Given the description of an element on the screen output the (x, y) to click on. 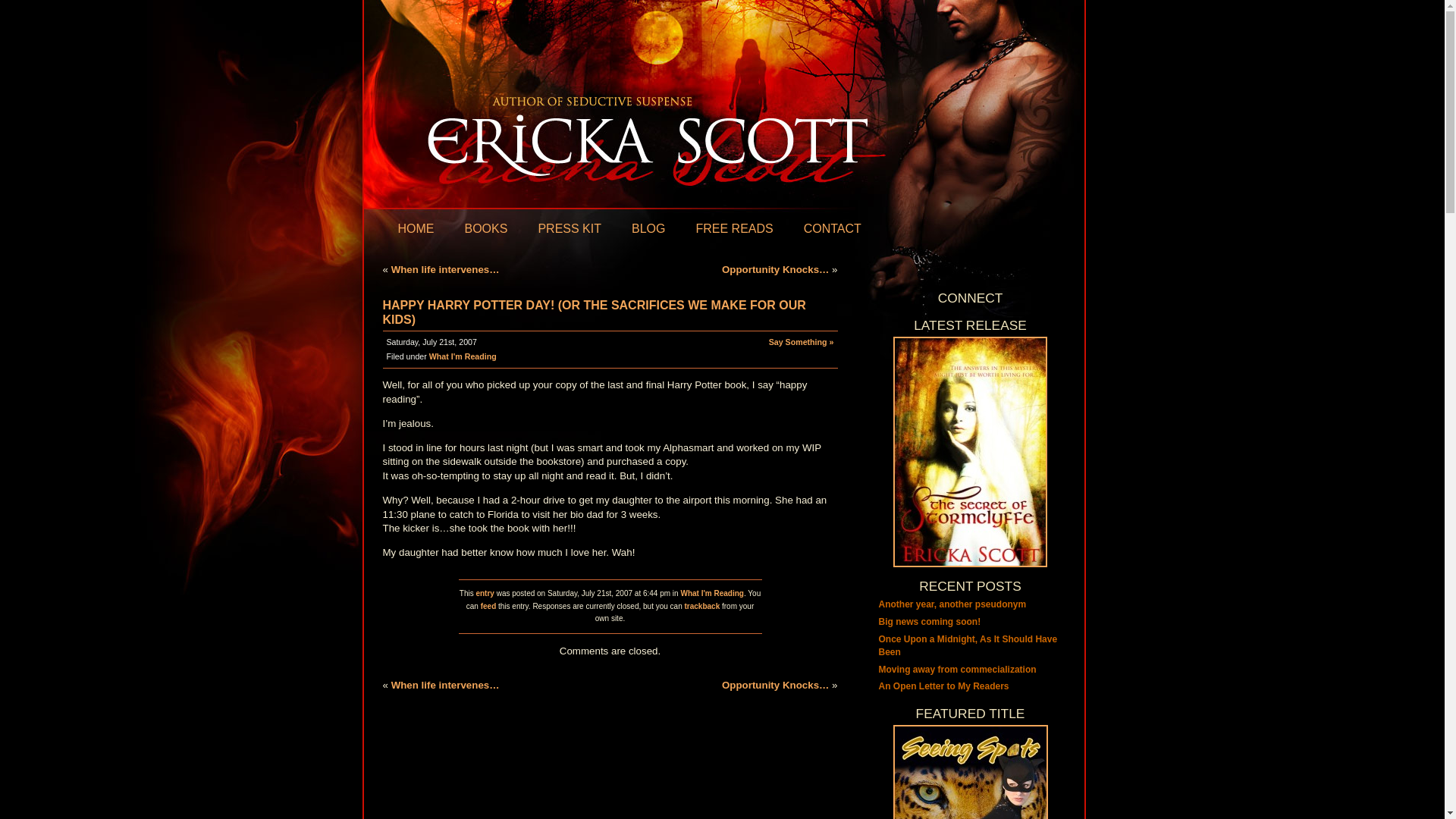
feed (488, 605)
Another year, another pseudonym (951, 603)
FREE READS (734, 228)
What I'm Reading (462, 356)
CONTACT (832, 228)
Big news coming soon! (928, 621)
What I'm Reading (711, 592)
HOME (415, 228)
entry (484, 592)
BOOKS (485, 228)
Once Upon a Midnight, As It Should Have Been (967, 645)
trackback (702, 605)
An Open Letter to My Readers (943, 685)
BLOG (648, 228)
PRESS KIT (569, 228)
